Given the description of an element on the screen output the (x, y) to click on. 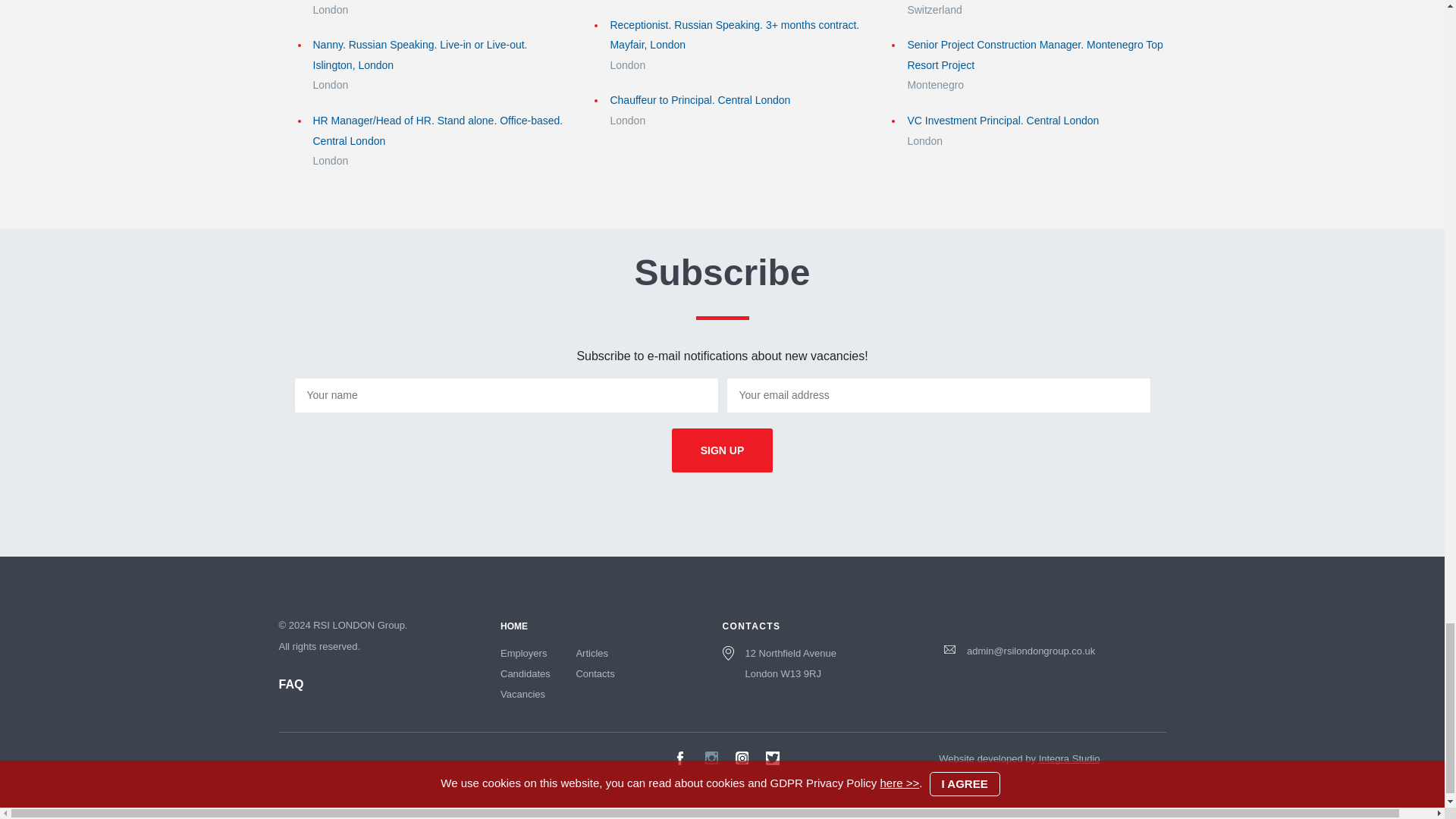
FAQ (291, 684)
Instagram (742, 757)
Facebook (679, 757)
Twitter (772, 757)
LinkedIn (711, 757)
Website development - Integra Studio (1069, 758)
RSI LONDON Group - Recruitment Consultancy (513, 625)
Sign up (722, 450)
